Given the description of an element on the screen output the (x, y) to click on. 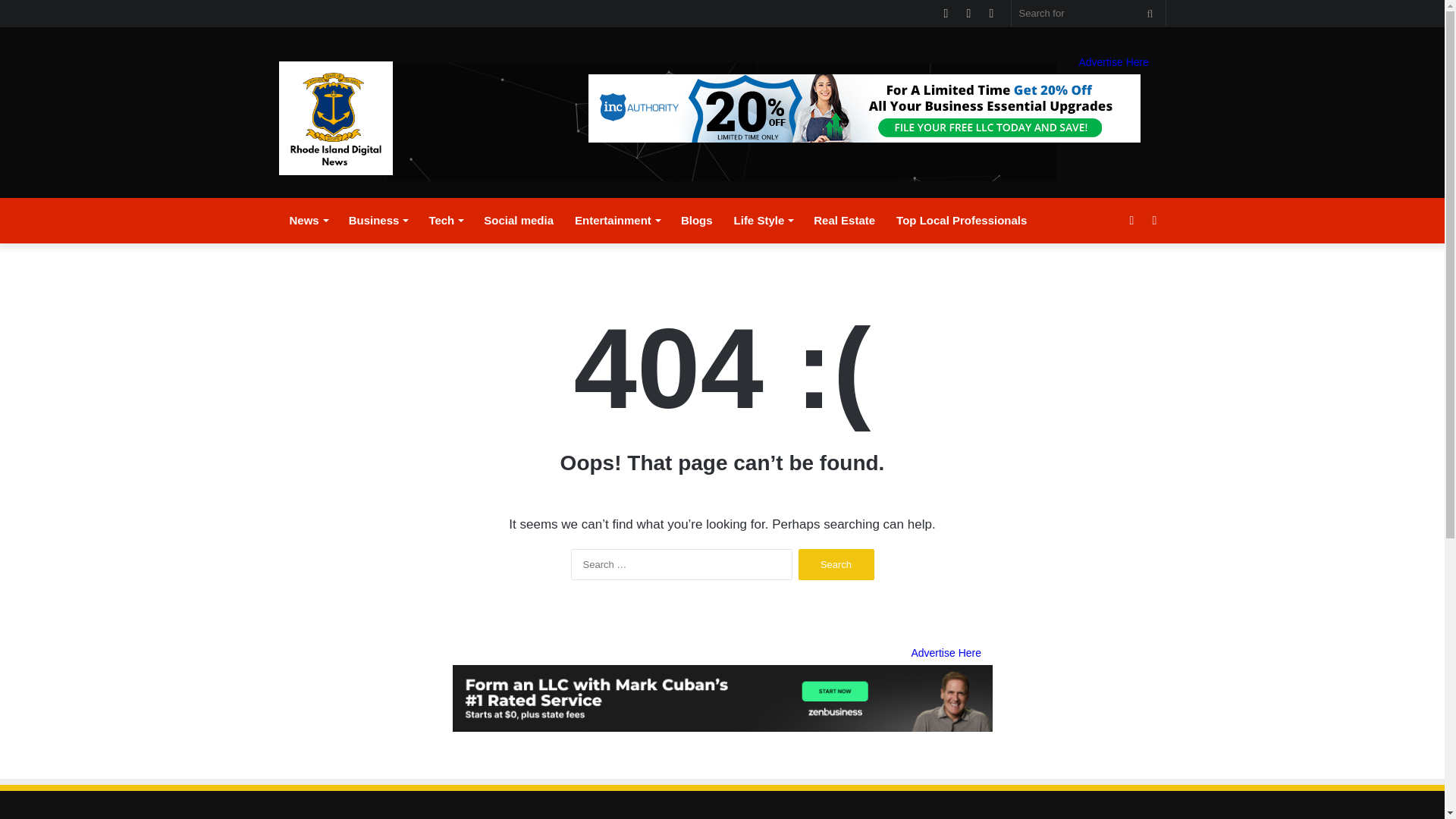
Social media (518, 220)
News (308, 220)
Search (835, 563)
Tech (445, 220)
Life Style (763, 220)
Business (378, 220)
Entertainment (616, 220)
Search for (1149, 13)
Search for (1088, 13)
Search (835, 563)
Blogs (696, 220)
Rhodeislanddigitalnews (336, 118)
